Given the description of an element on the screen output the (x, y) to click on. 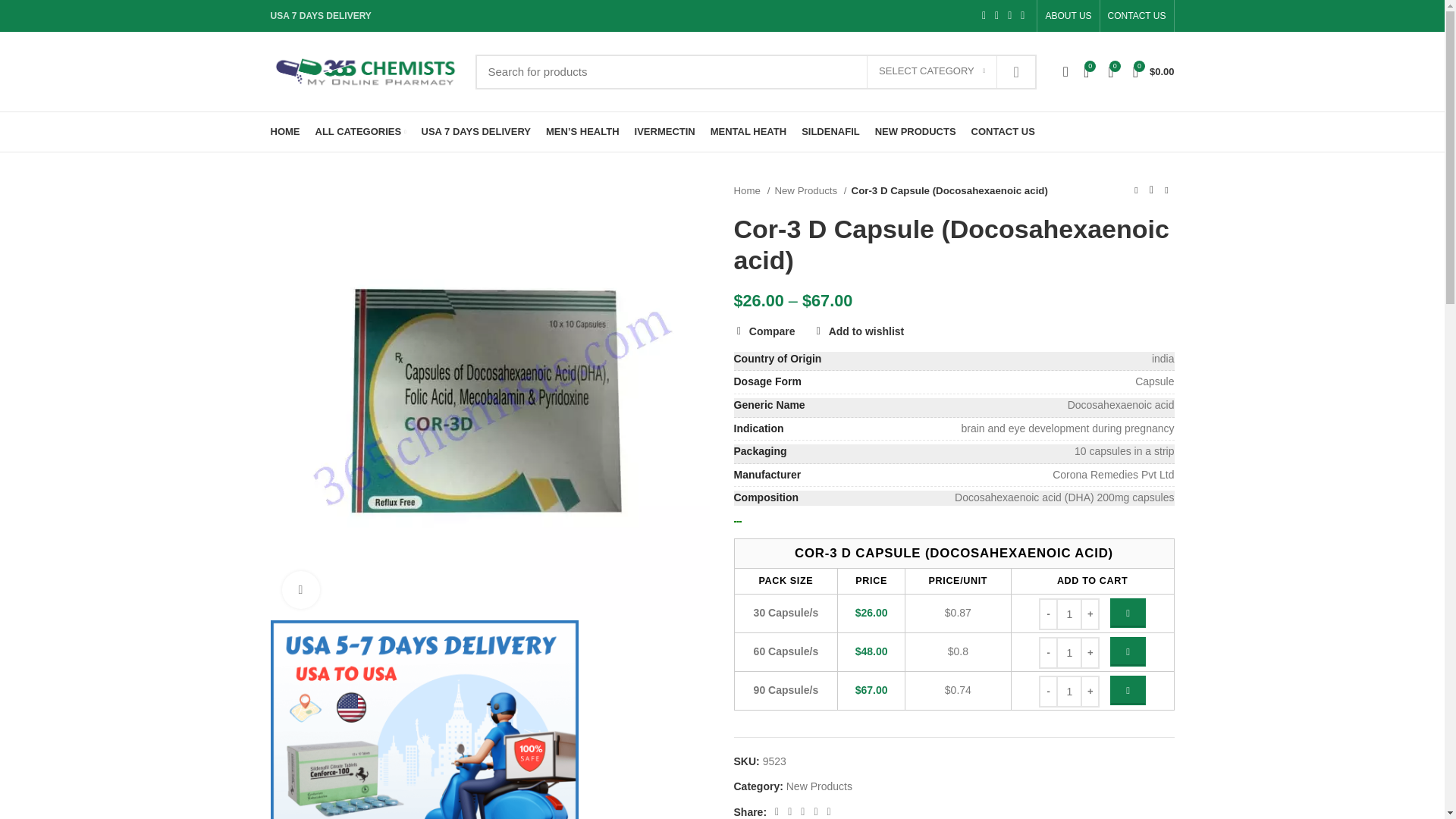
SELECT CATEGORY (931, 71)
ABOUT US (1067, 15)
SELECT CATEGORY (931, 71)
Shopping cart (1153, 71)
Search for products (755, 71)
CONTACT US (1136, 15)
